Given the description of an element on the screen output the (x, y) to click on. 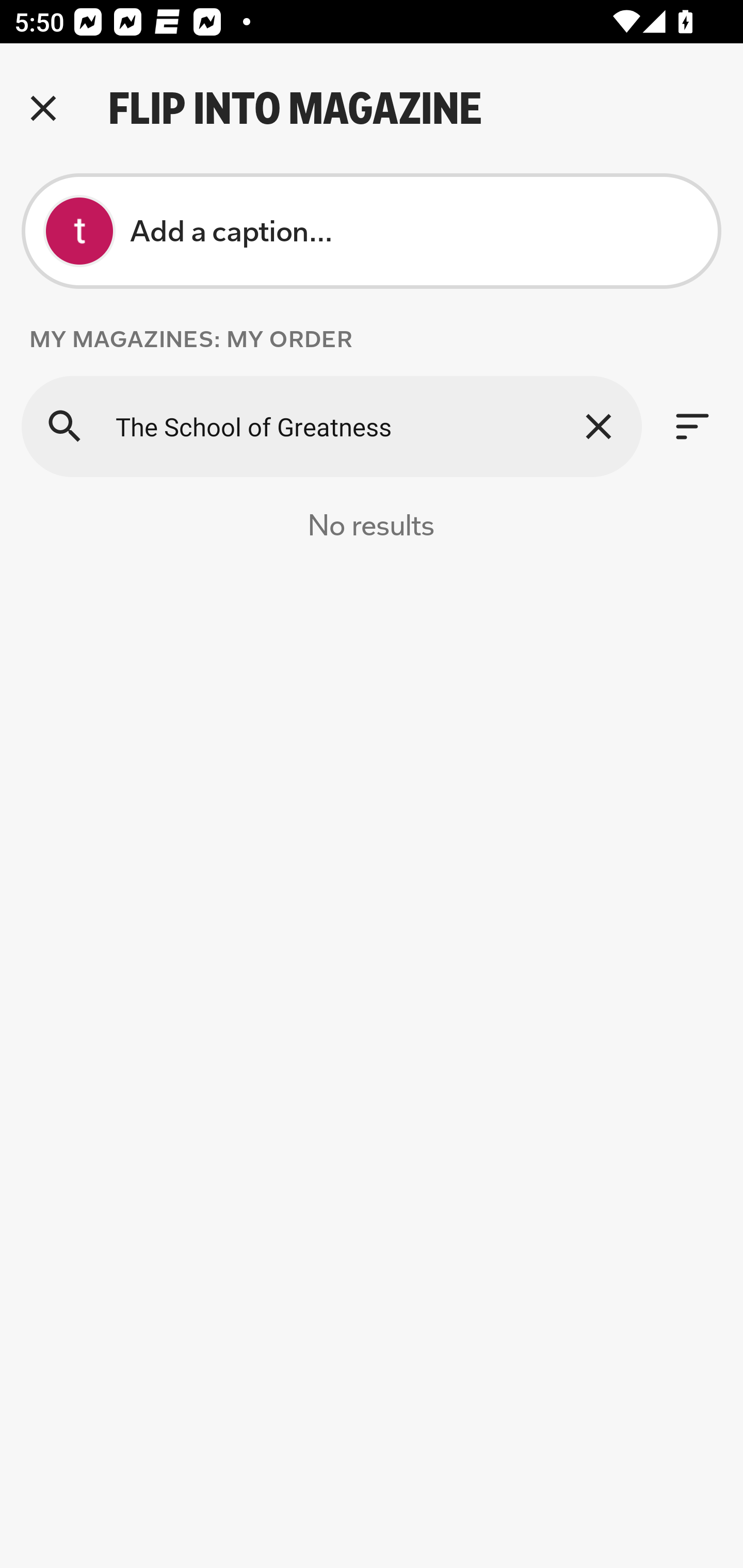
test appium Add a caption… (371, 231)
The School of Greatness Search (331, 426)
